Given the description of an element on the screen output the (x, y) to click on. 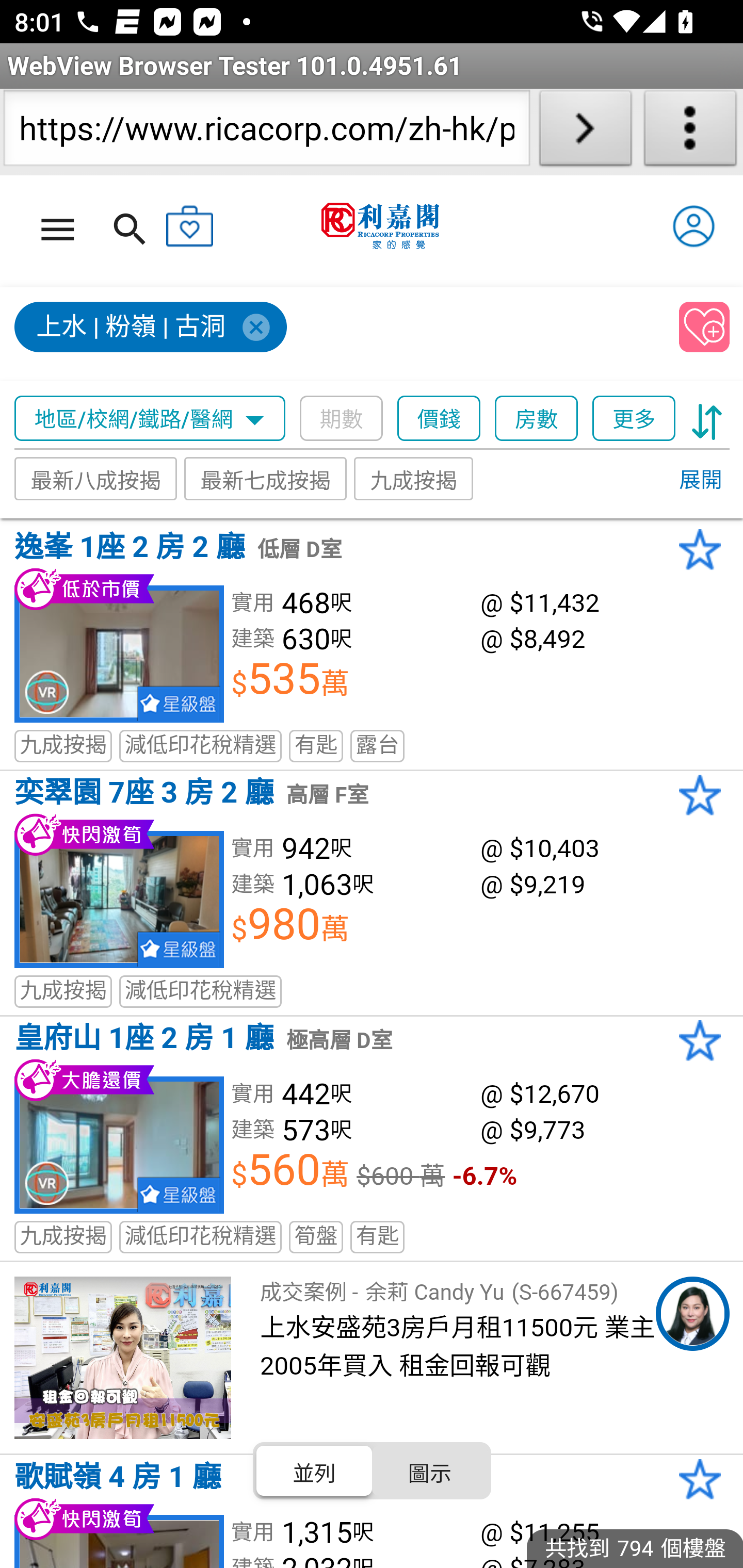
Load URL (585, 132)
About WebView (690, 132)
上水 | 粉嶺 | 古洞 (151, 327)
save (705, 327)
地區/校網/鐵路/醫網 (150, 418)
期數 (341, 418)
價錢 (439, 418)
房數 (536, 418)
更多 (634, 418)
sort (706, 418)
最新八成按揭 (96, 478)
最新七成按揭 (266, 478)
九成按揭 (413, 478)
展開 (699, 481)
Candy Yu (692, 1313)
並列 (314, 1470)
圖示 (429, 1470)
